Given the description of an element on the screen output the (x, y) to click on. 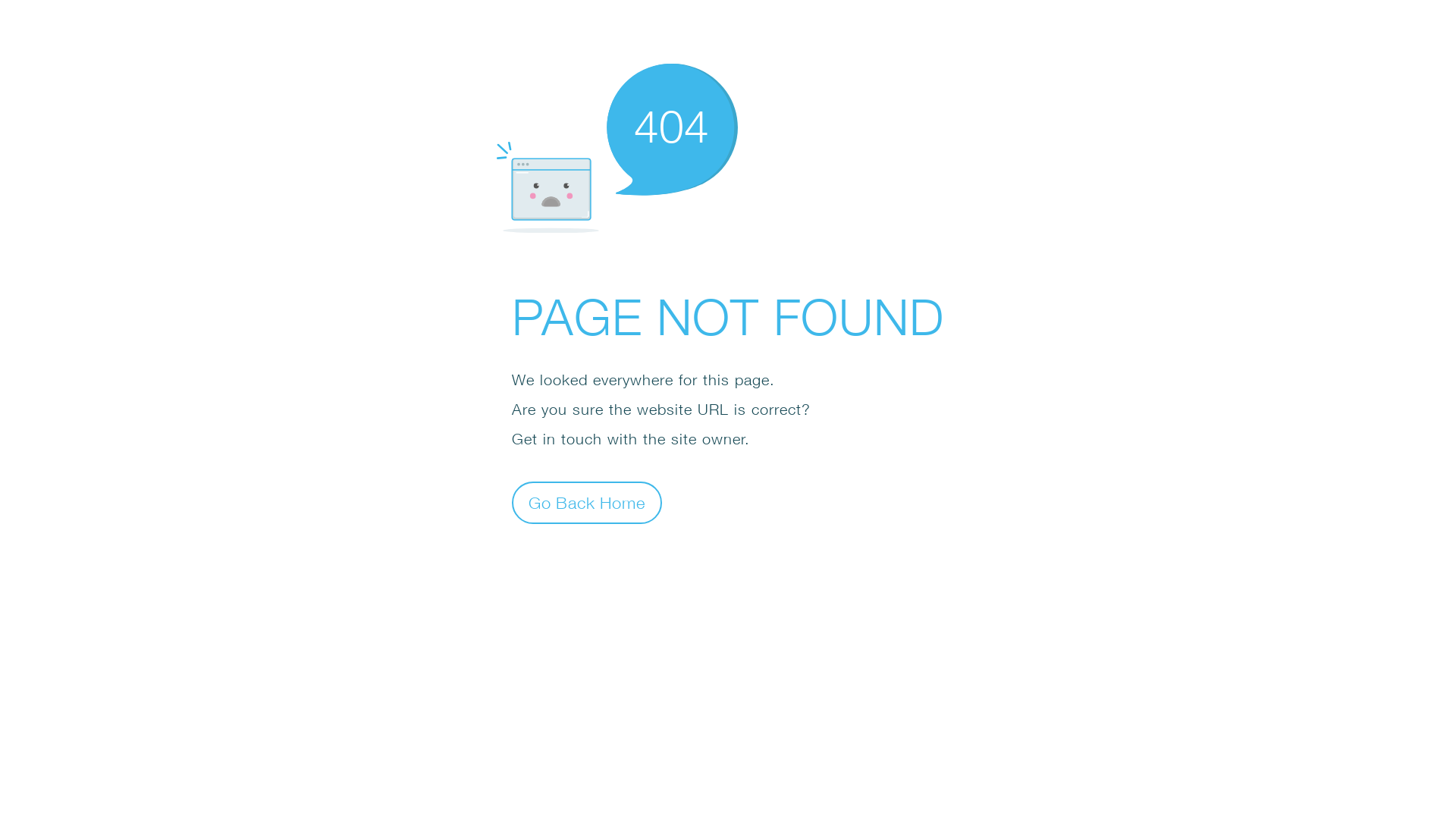
Go Back Home Element type: text (586, 502)
